Given the description of an element on the screen output the (x, y) to click on. 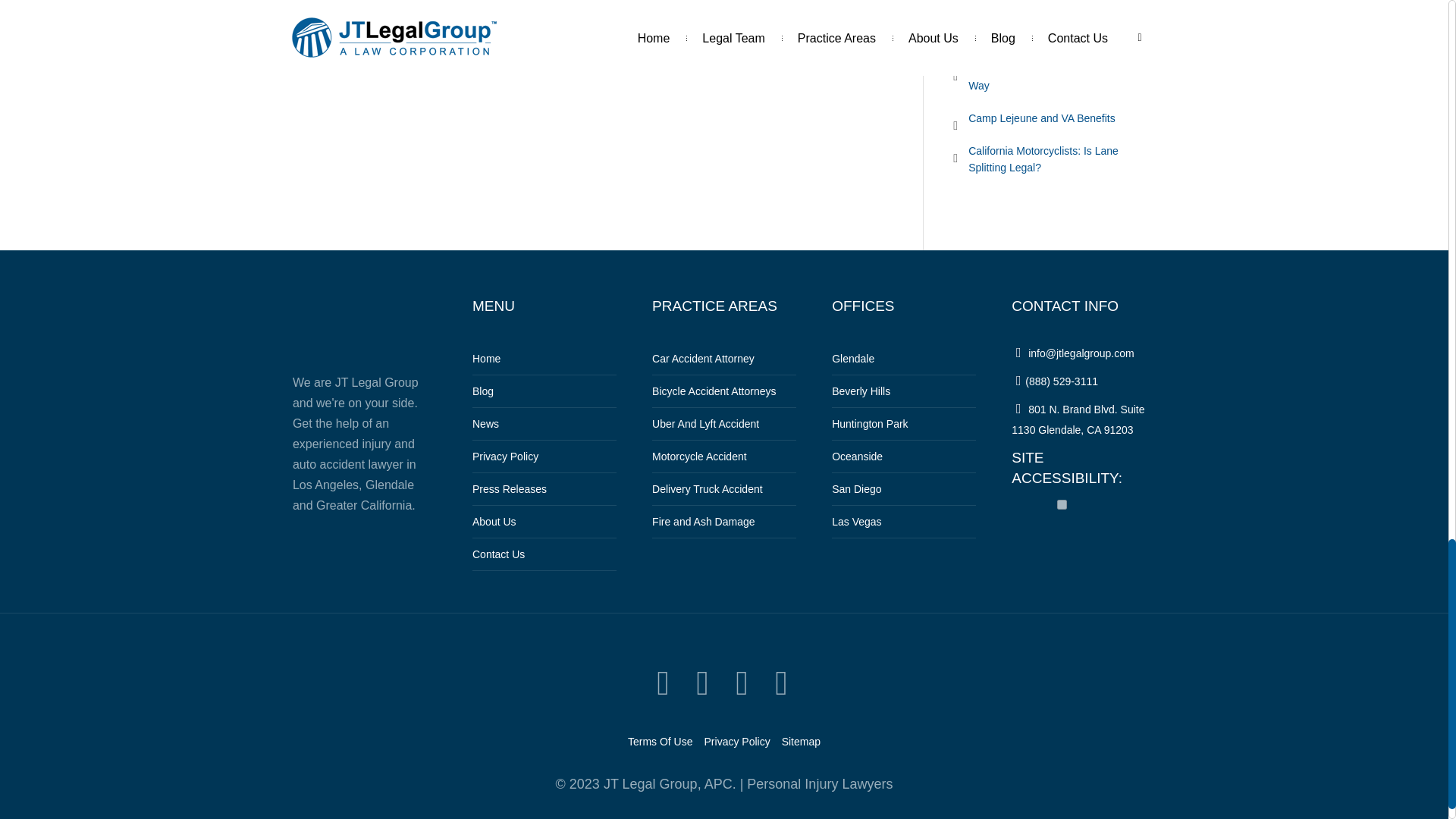
Skype (780, 683)
linkedin (741, 683)
Facebook (702, 683)
on (1062, 504)
Twitter (662, 683)
